Given the description of an element on the screen output the (x, y) to click on. 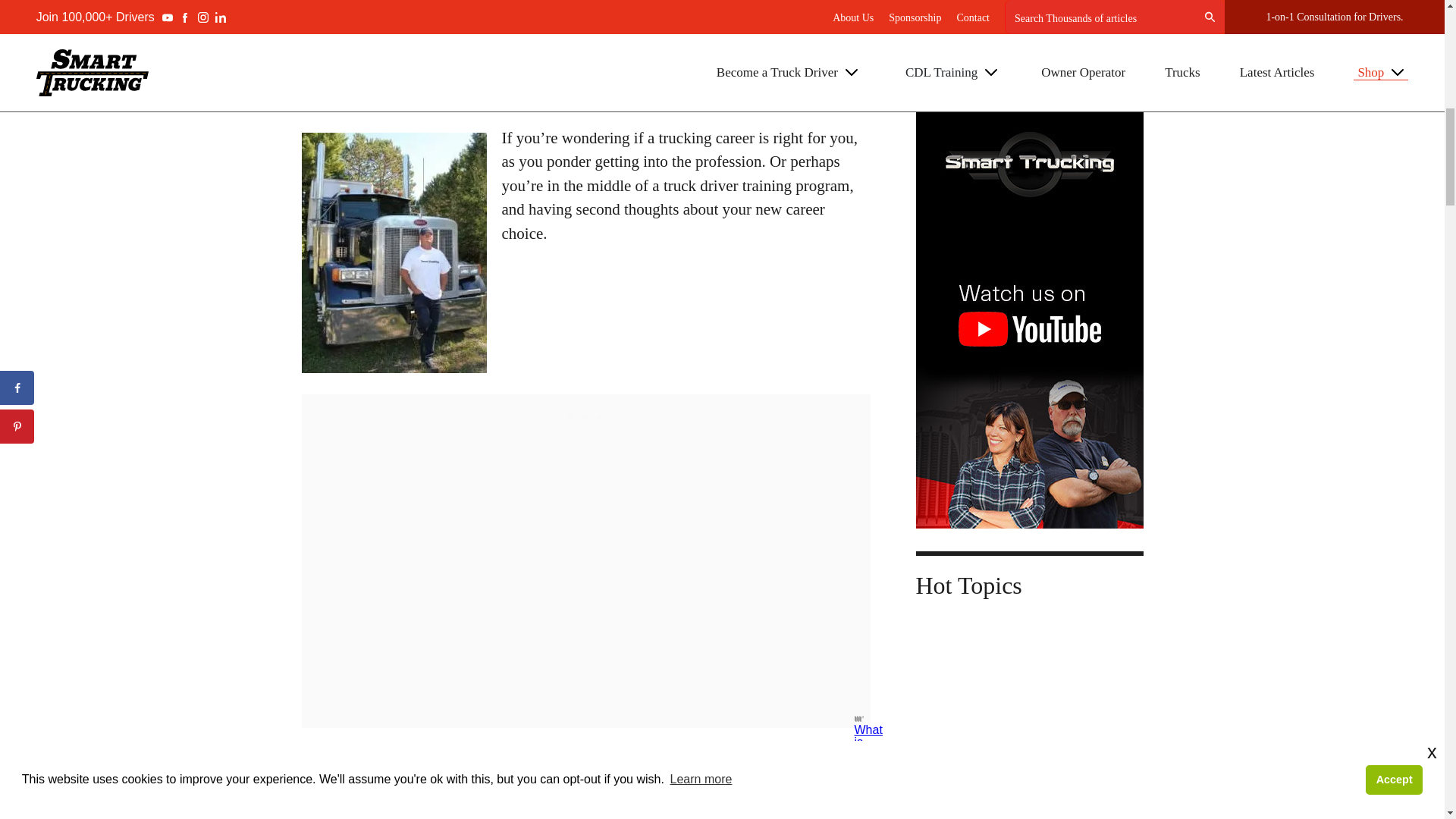
Share on Facebook (368, 88)
Save to Pinterest (512, 88)
3rd party ad content (585, 412)
